Given the description of an element on the screen output the (x, y) to click on. 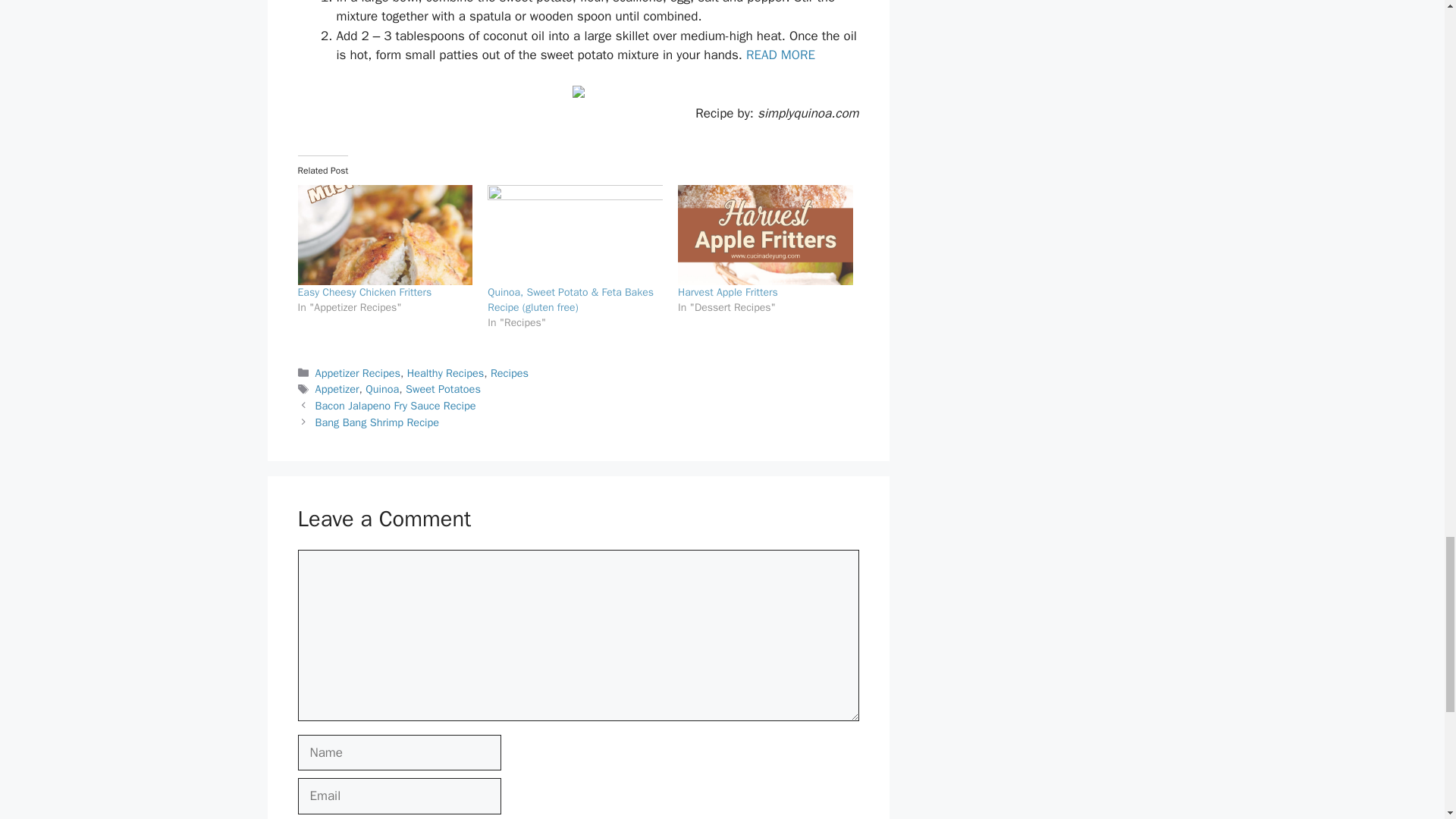
Appetizer Recipes (357, 373)
Easy Cheesy Chicken Fritters (363, 291)
Quinoa (381, 388)
Harvest Apple Fritters (727, 291)
Bang Bang Shrimp Recipe (377, 422)
Harvest Apple Fritters (765, 235)
Sweet Potatoes (443, 388)
Healthy Recipes (445, 373)
Recipes (509, 373)
Easy Cheesy Chicken Fritters (363, 291)
Easy Cheesy Chicken Fritters (384, 235)
Bacon Jalapeno Fry Sauce Recipe (395, 405)
Appetizer (337, 388)
Harvest Apple Fritters (727, 291)
READ MORE (780, 54)
